Given the description of an element on the screen output the (x, y) to click on. 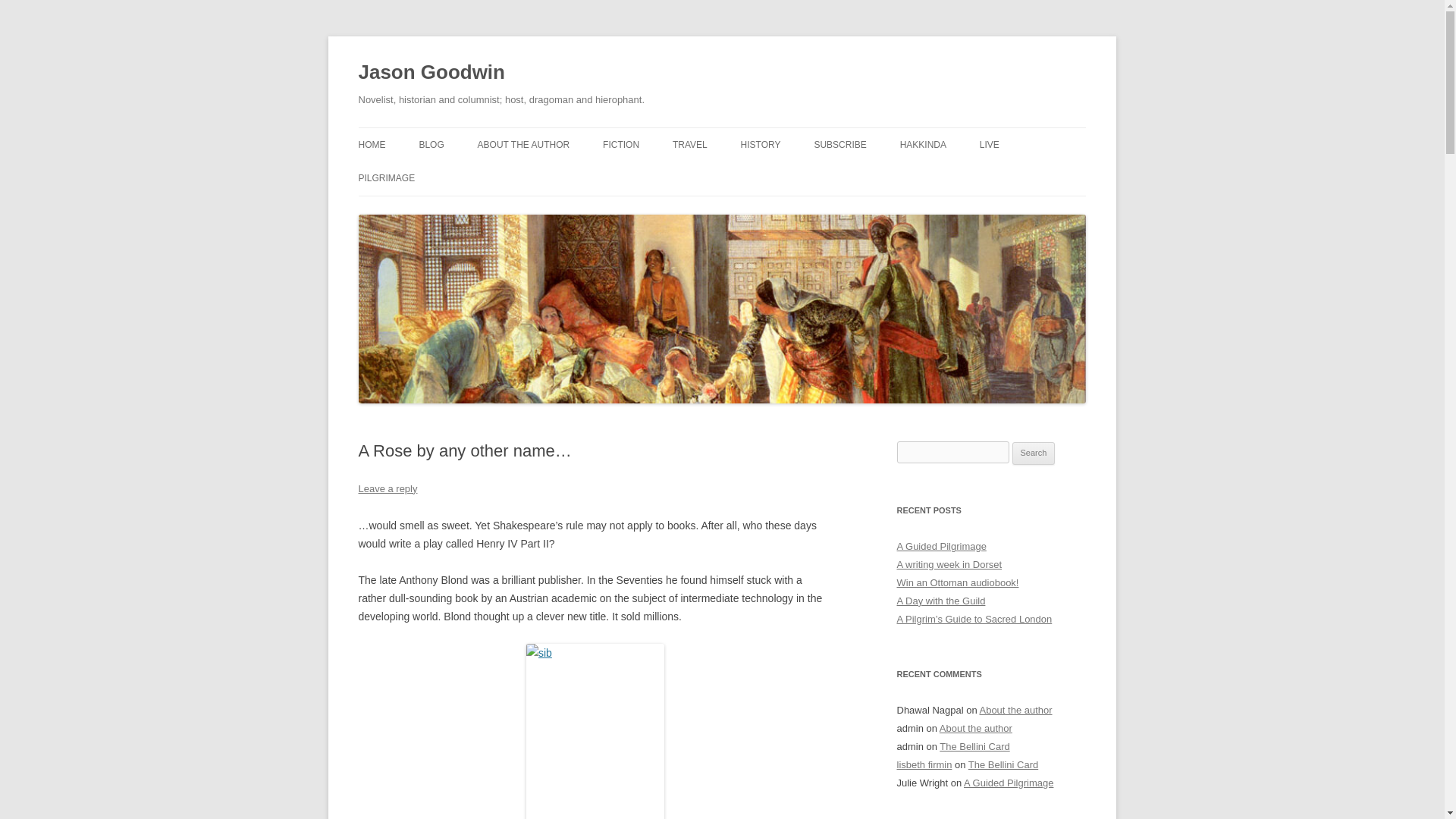
PILGRIMAGE (386, 177)
Leave a reply (387, 488)
HISTORY (760, 144)
ABOUT THE AUTHOR (523, 144)
SUBSCRIBE (839, 144)
TRAVEL (689, 144)
LORDS OF THE HORIZONS (816, 176)
HAKKINDA (922, 144)
Jason Goodwin (430, 72)
THE JANISSARY TREE (678, 176)
FICTION (620, 144)
ON FOOT TO THE GOLDEN HORN (748, 176)
Search (1033, 453)
